Given the description of an element on the screen output the (x, y) to click on. 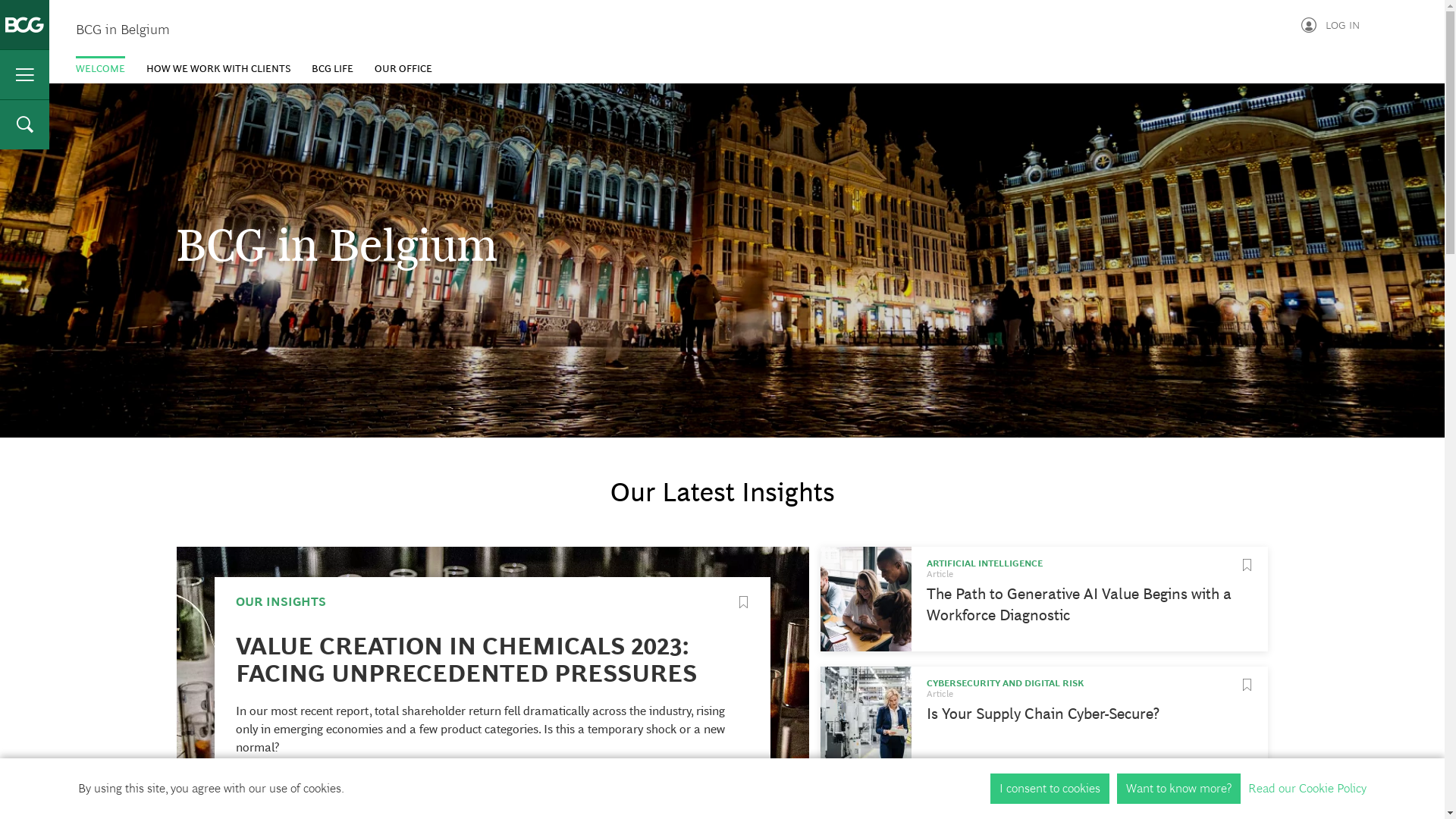
Read our Cookie Policy Element type: text (1307, 788)
I consent to cookies Element type: text (1049, 788)
READ MORE Element type: text (272, 786)
Save Content Element type: hover (1246, 564)
WELCOME Element type: text (100, 68)
HOW WE WORK WITH CLIENTS Element type: text (218, 68)
Save Content Element type: hover (1246, 684)
Save Content Element type: hover (743, 602)
Save Content Element type: hover (1246, 804)
OUR OFFICE Element type: text (403, 68)
Want to know more? Element type: text (1178, 788)
BCG LIFE Element type: text (332, 68)
